Given the description of an element on the screen output the (x, y) to click on. 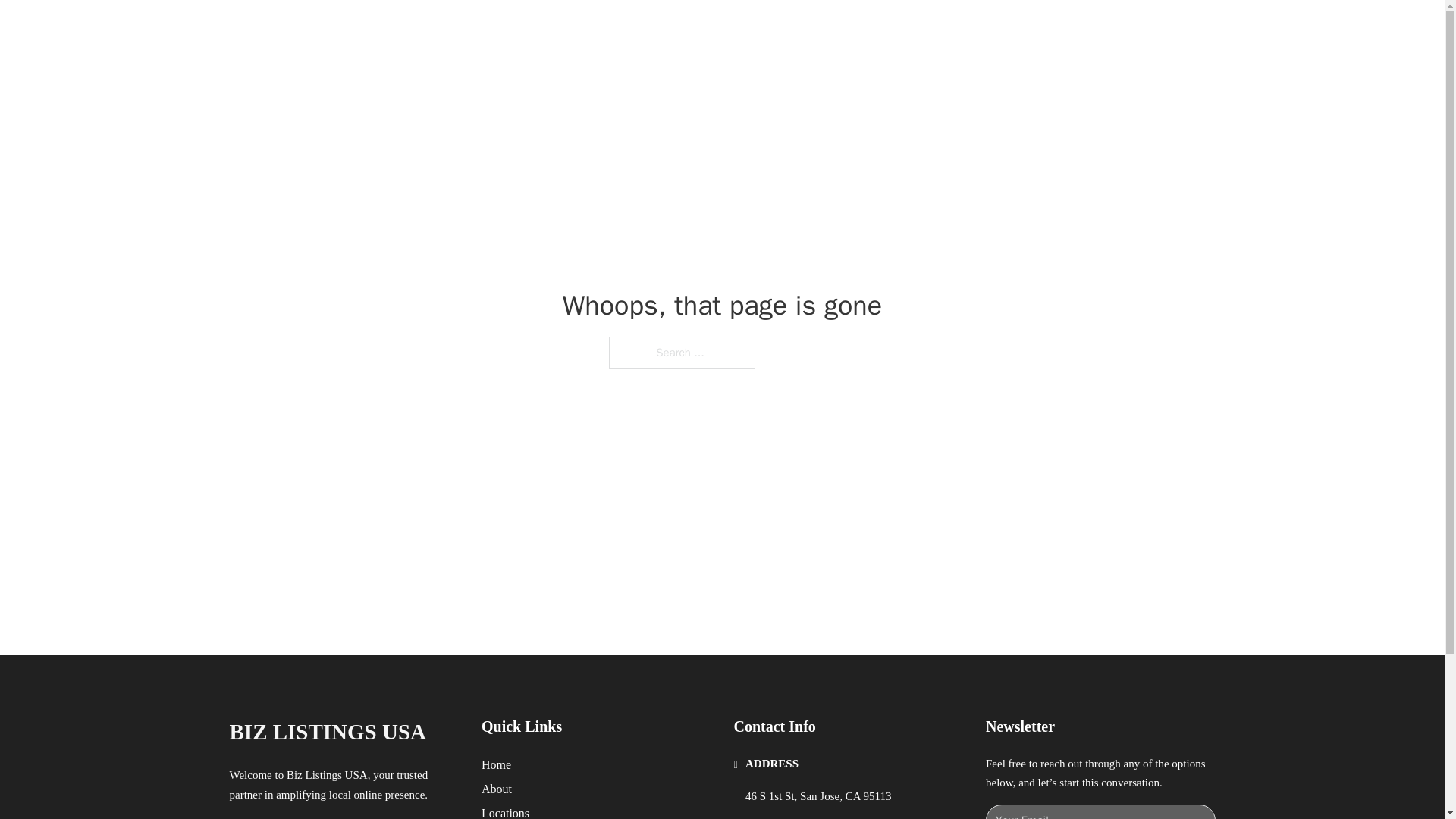
HOME (919, 29)
Locations (505, 811)
Home (496, 764)
BIZ LISTINGS USA (327, 732)
About (496, 788)
BIZ LISTINGS USA (400, 28)
LOCATIONS (990, 29)
